Given the description of an element on the screen output the (x, y) to click on. 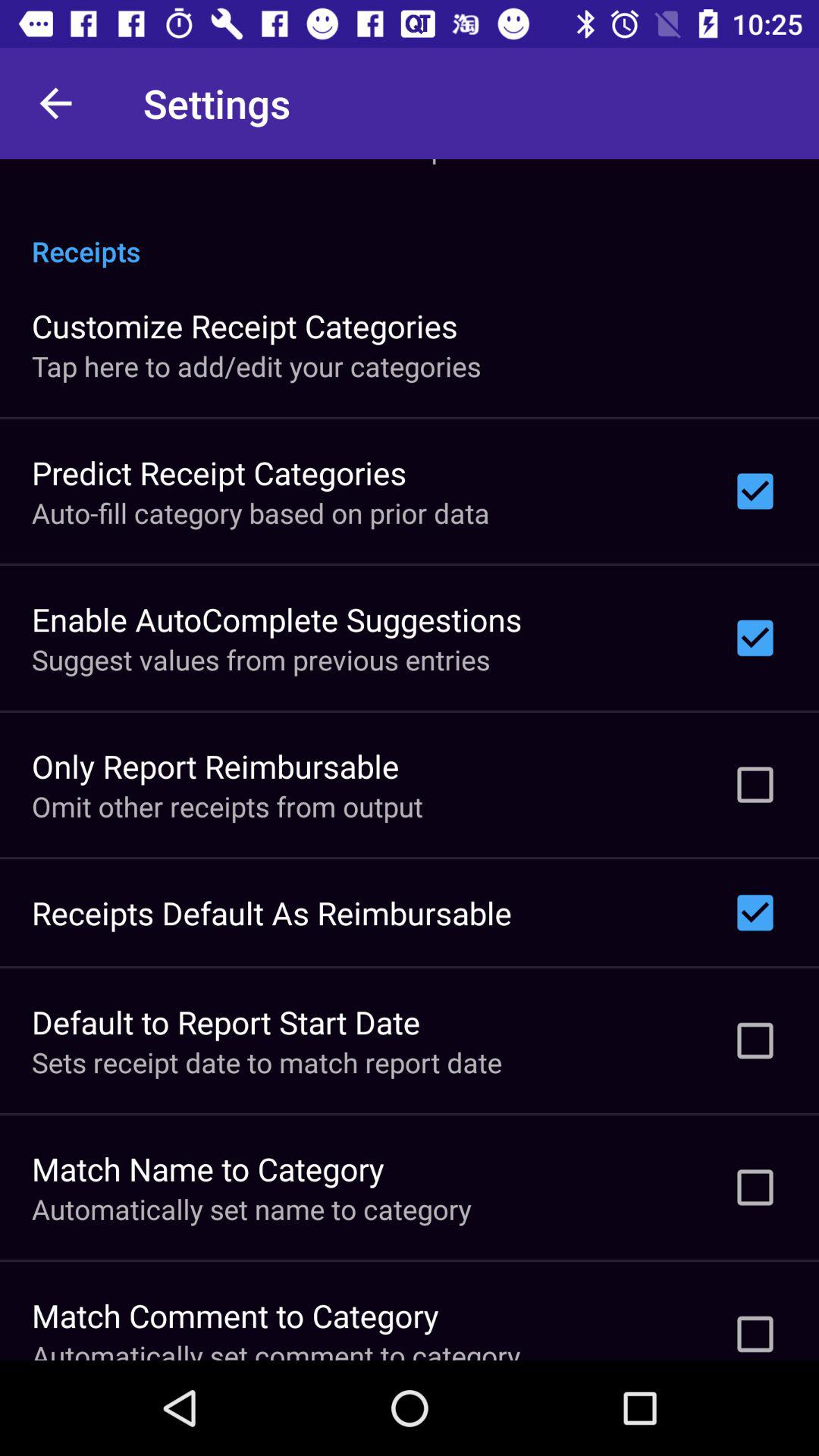
flip to the sets receipt date item (266, 1062)
